Given the description of an element on the screen output the (x, y) to click on. 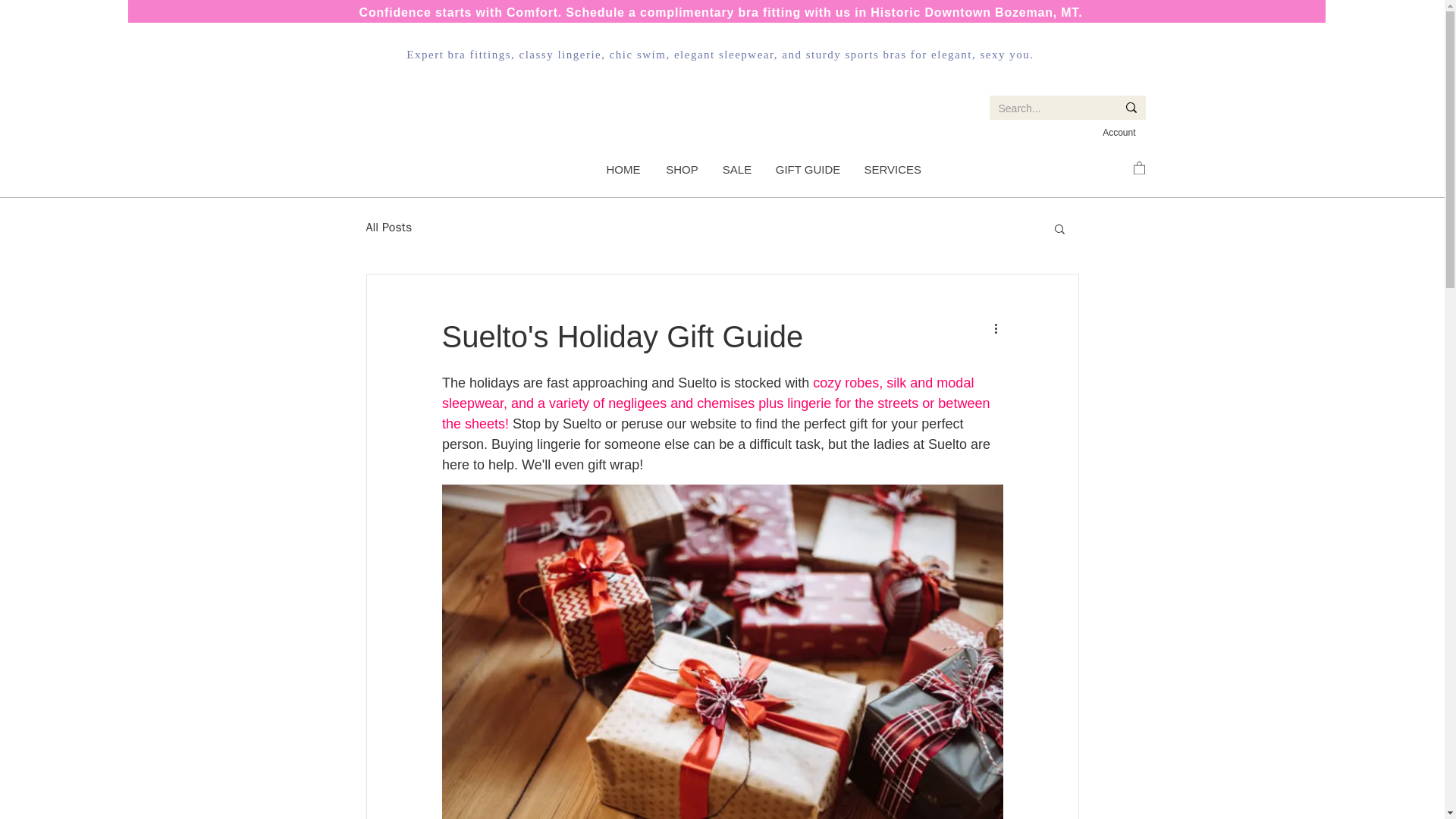
Account (1118, 133)
SHOP (681, 169)
All Posts (388, 227)
SALE (736, 169)
SERVICES (891, 169)
HOME (622, 169)
GIFT GUIDE (806, 169)
